Given the description of an element on the screen output the (x, y) to click on. 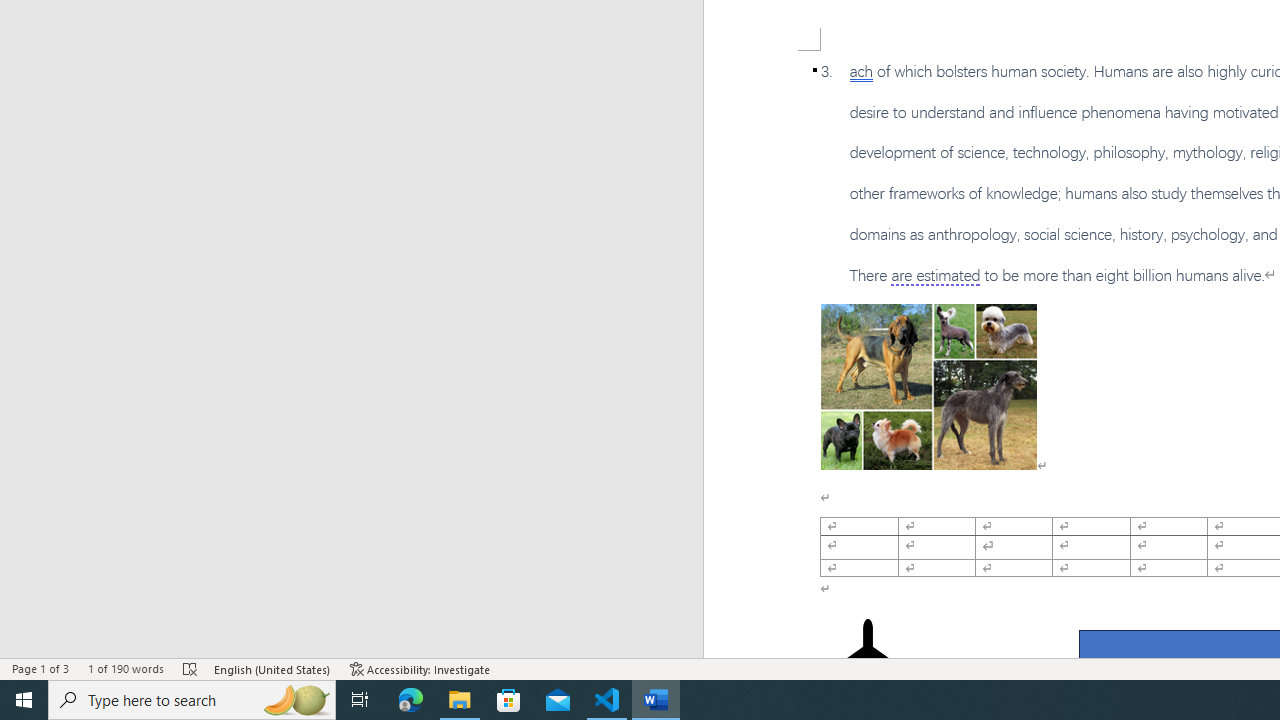
File Explorer - 1 running window (460, 699)
Airplane with solid fill (867, 657)
Morphological variation in six dogs (928, 386)
Word - 1 running window (656, 699)
Page Number Page 1 of 3 (39, 668)
